Given the description of an element on the screen output the (x, y) to click on. 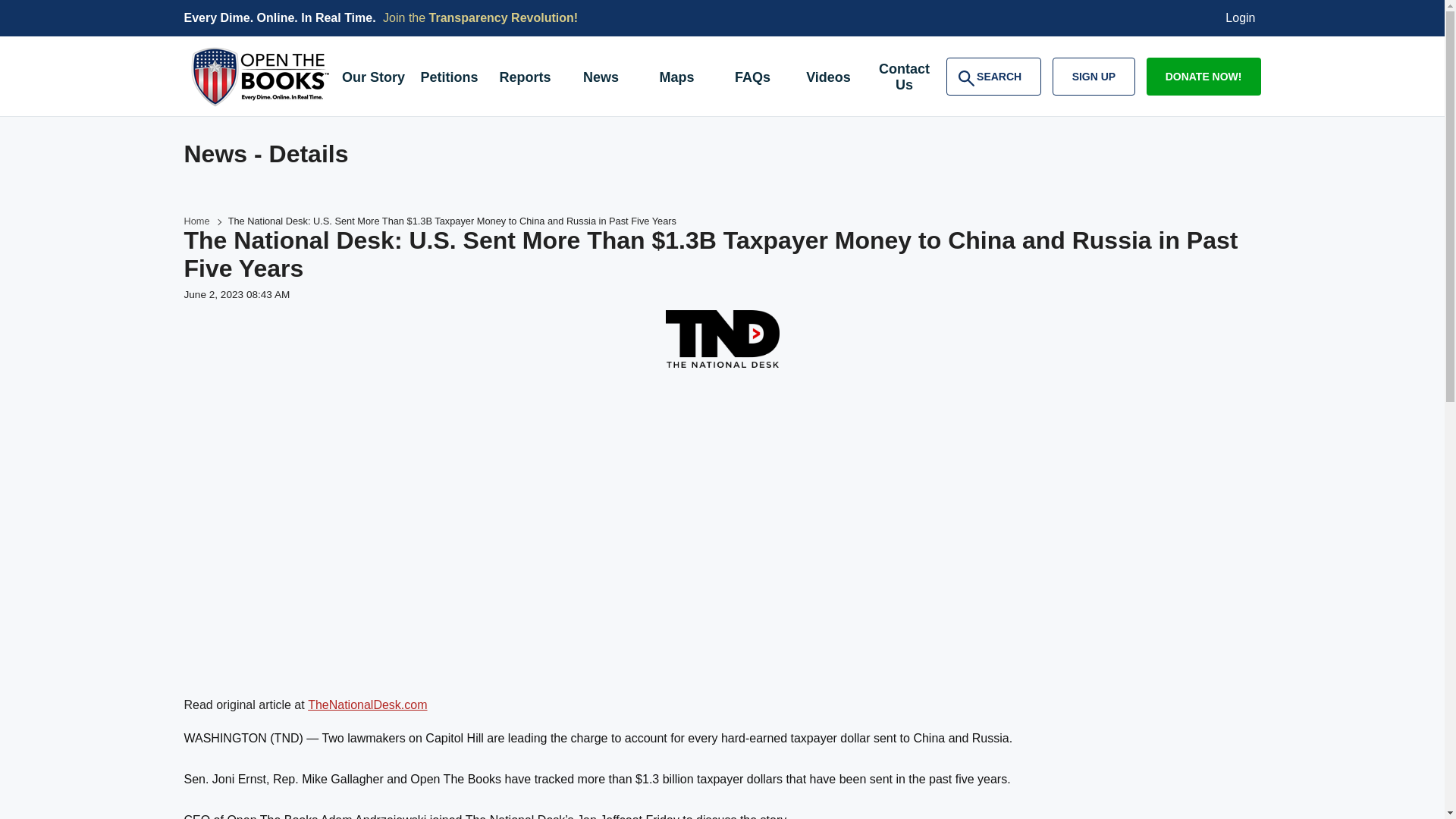
Contact Us (904, 78)
DONATE NOW! (1203, 76)
Maps (676, 78)
SIGN UP (1093, 76)
Reports (524, 78)
FAQs (752, 78)
Videos (828, 78)
Transparency Revolution! (503, 17)
Home (196, 220)
